Given the description of an element on the screen output the (x, y) to click on. 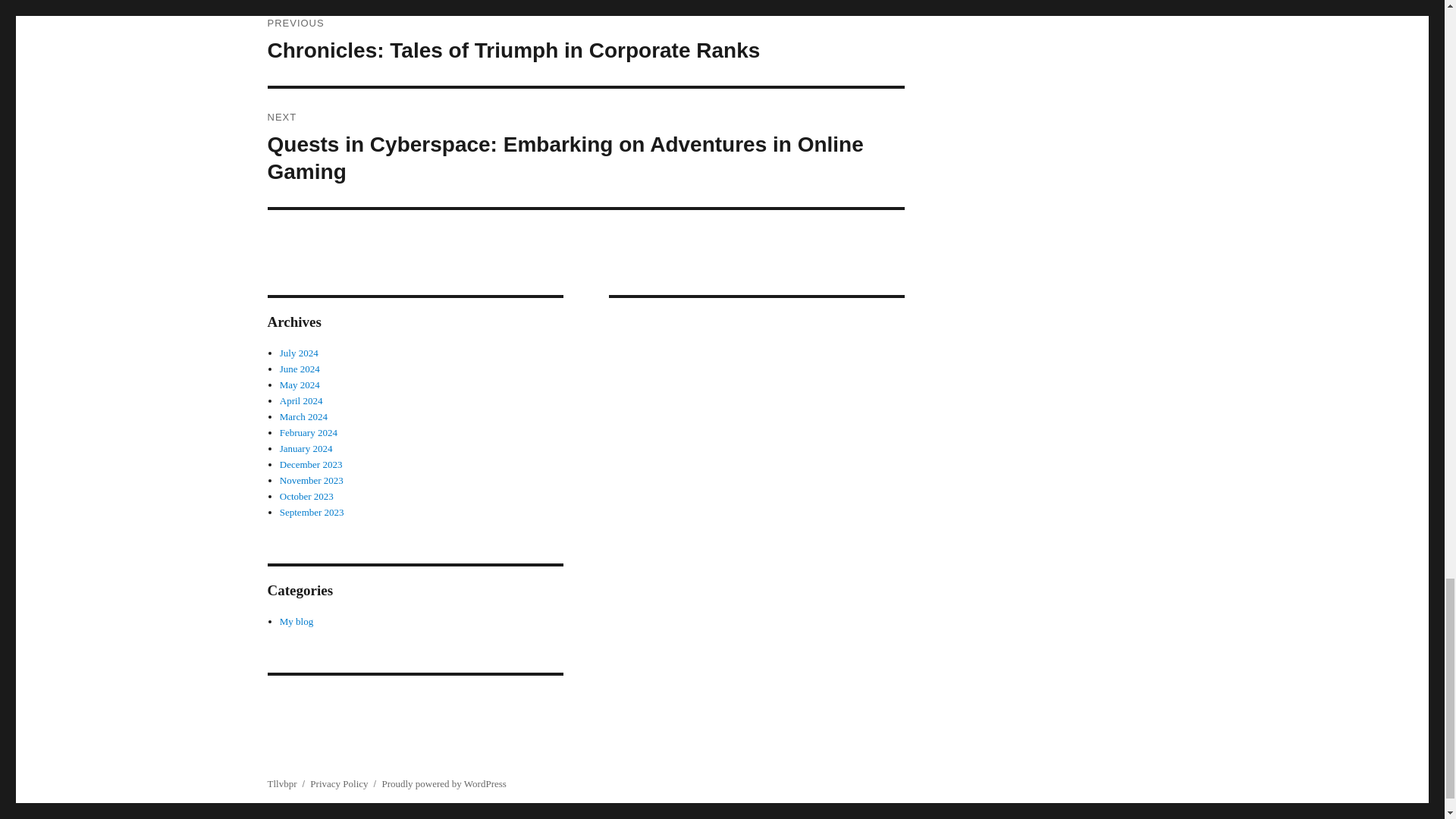
January 2024 (306, 448)
March 2024 (303, 416)
September 2023 (311, 511)
My blog (296, 621)
November 2023 (311, 480)
May 2024 (299, 384)
October 2023 (306, 496)
July 2024 (298, 352)
April 2024 (301, 400)
June 2024 (299, 368)
December 2023 (310, 464)
February 2024 (308, 432)
